Given the description of an element on the screen output the (x, y) to click on. 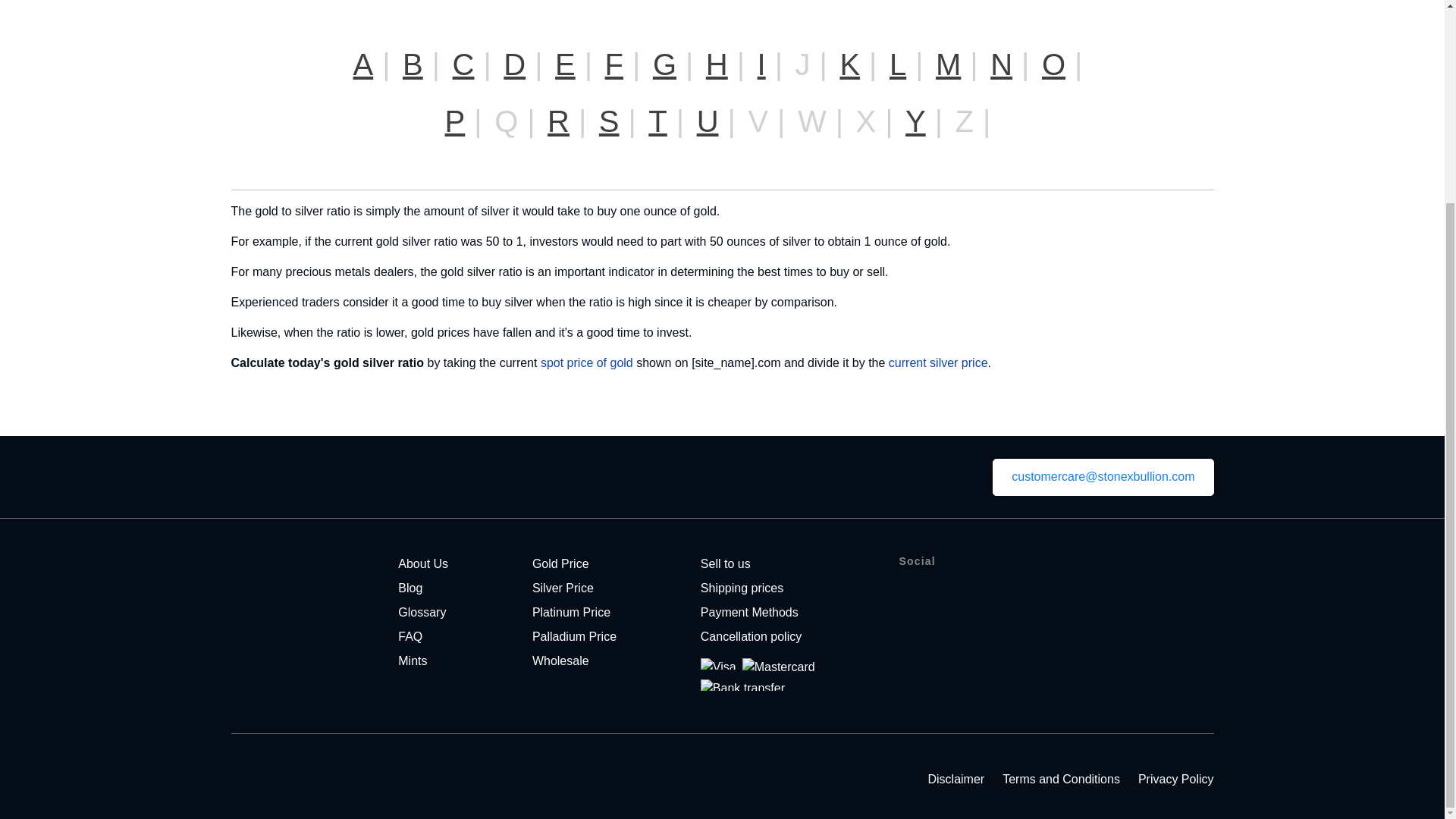
Instagram (1008, 591)
FAQ (409, 635)
Sell to us (725, 563)
Twitter (961, 591)
Palladium Price (573, 635)
We accept credit cards (757, 674)
Mints (411, 660)
Glossary (421, 612)
Silver Price (563, 587)
Platinum Price (571, 612)
Payment Methods (748, 612)
Cancellation policy (751, 635)
Gold Price (560, 563)
Blog (409, 587)
Facebook (915, 591)
